Given the description of an element on the screen output the (x, y) to click on. 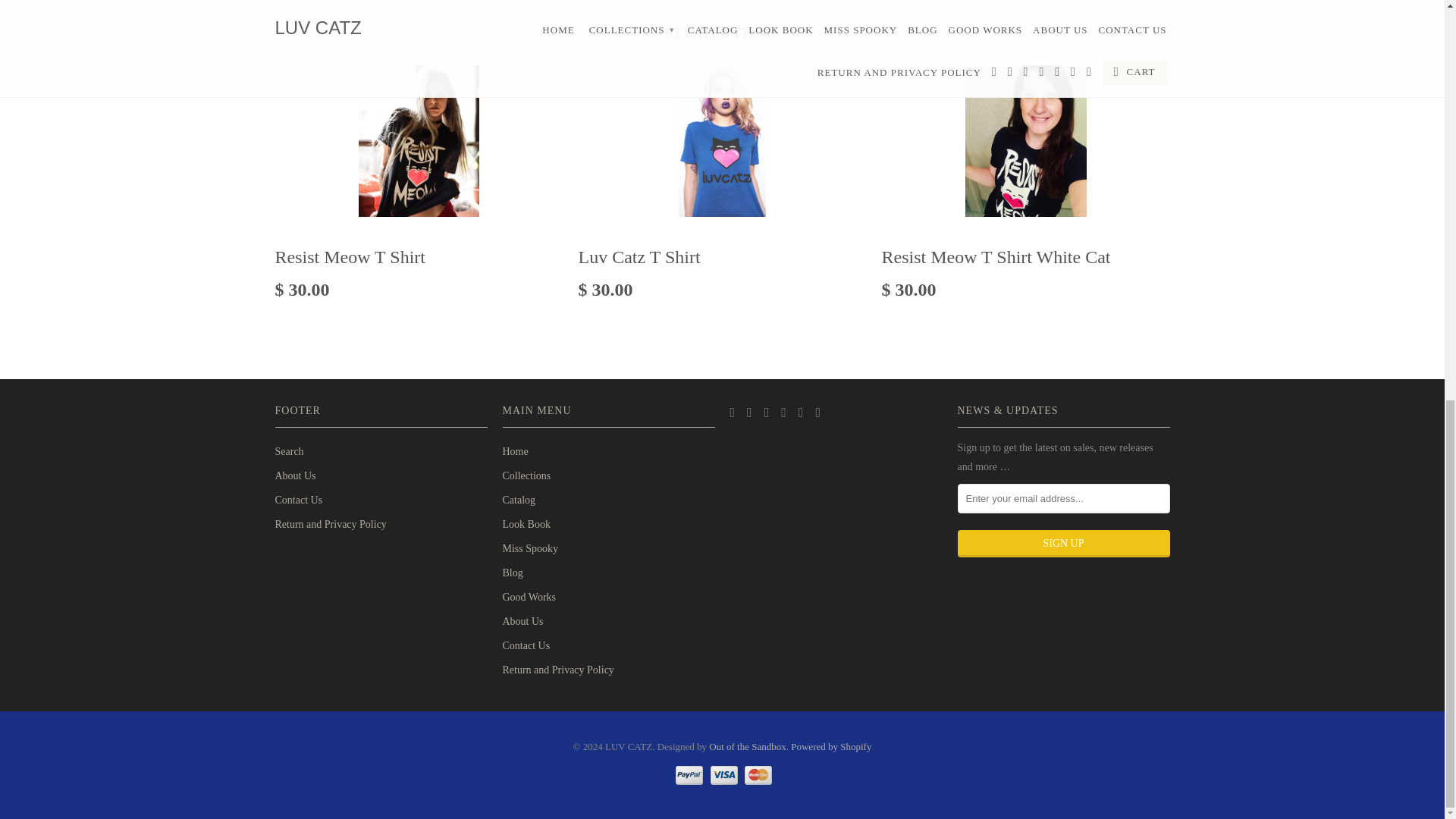
Sign Up (1062, 543)
